Given the description of an element on the screen output the (x, y) to click on. 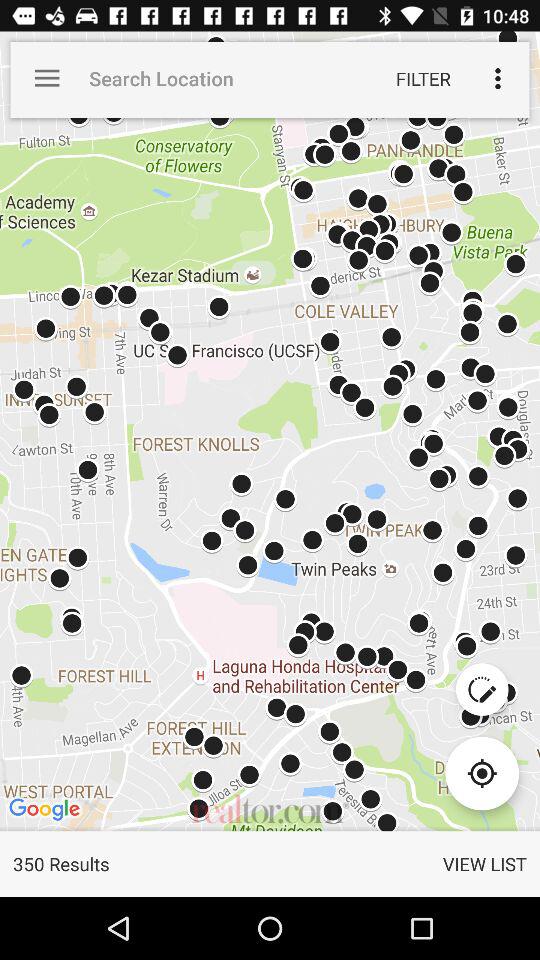
choose the app next to filter item (497, 78)
